Given the description of an element on the screen output the (x, y) to click on. 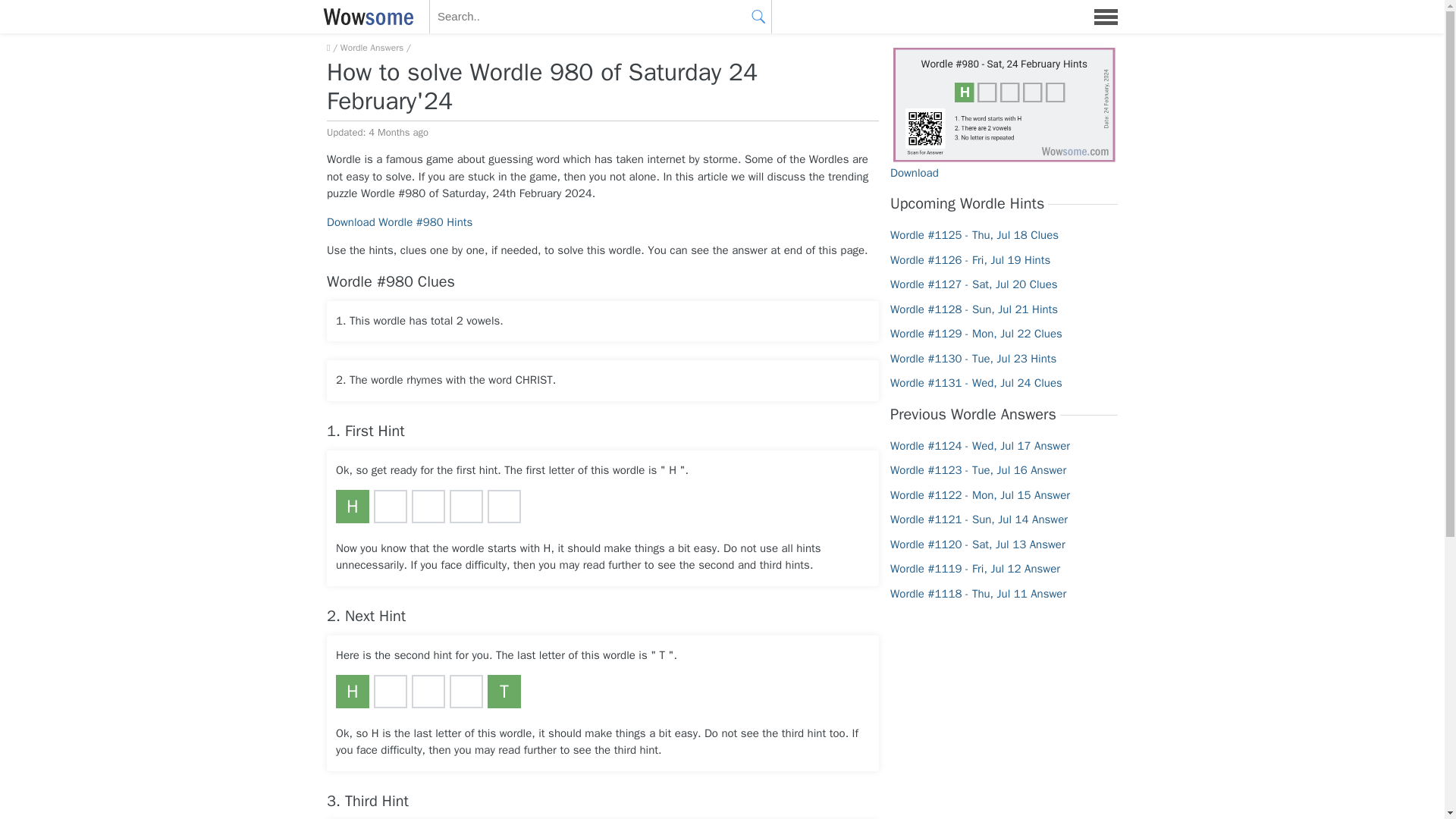
Wordle Answers (371, 47)
google (722, 370)
WOWSOME (364, 16)
facebook (722, 326)
Download (914, 172)
twitter (722, 415)
